Given the description of an element on the screen output the (x, y) to click on. 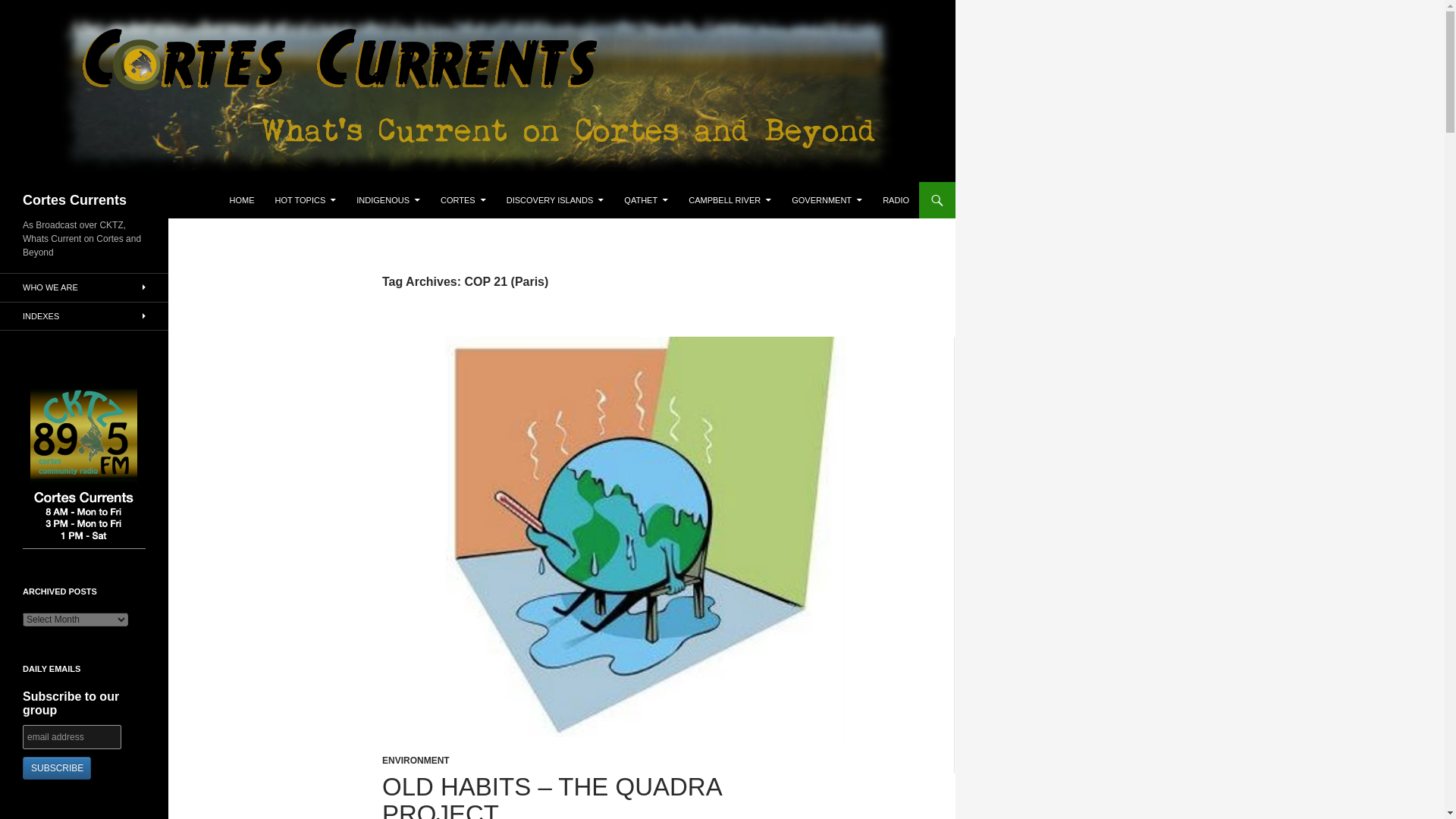
Cortes Currents (74, 199)
HOME (242, 199)
INDIGENOUS (388, 199)
HOT TOPICS (306, 199)
DISCOVERY ISLANDS (554, 199)
CORTES (462, 199)
Subscribe (56, 767)
